Given the description of an element on the screen output the (x, y) to click on. 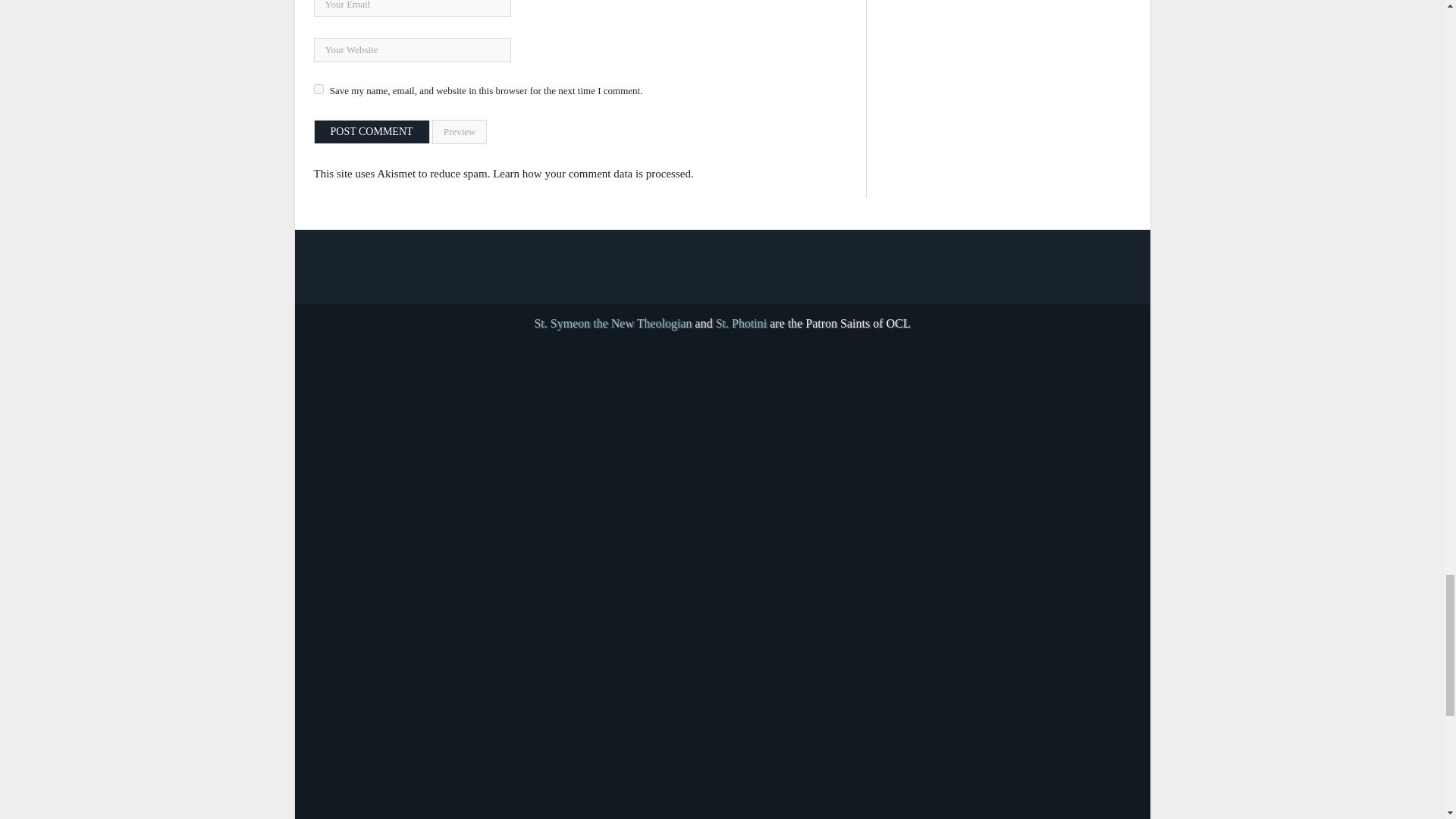
Post Comment (371, 131)
yes (318, 89)
Preview (459, 131)
